Given the description of an element on the screen output the (x, y) to click on. 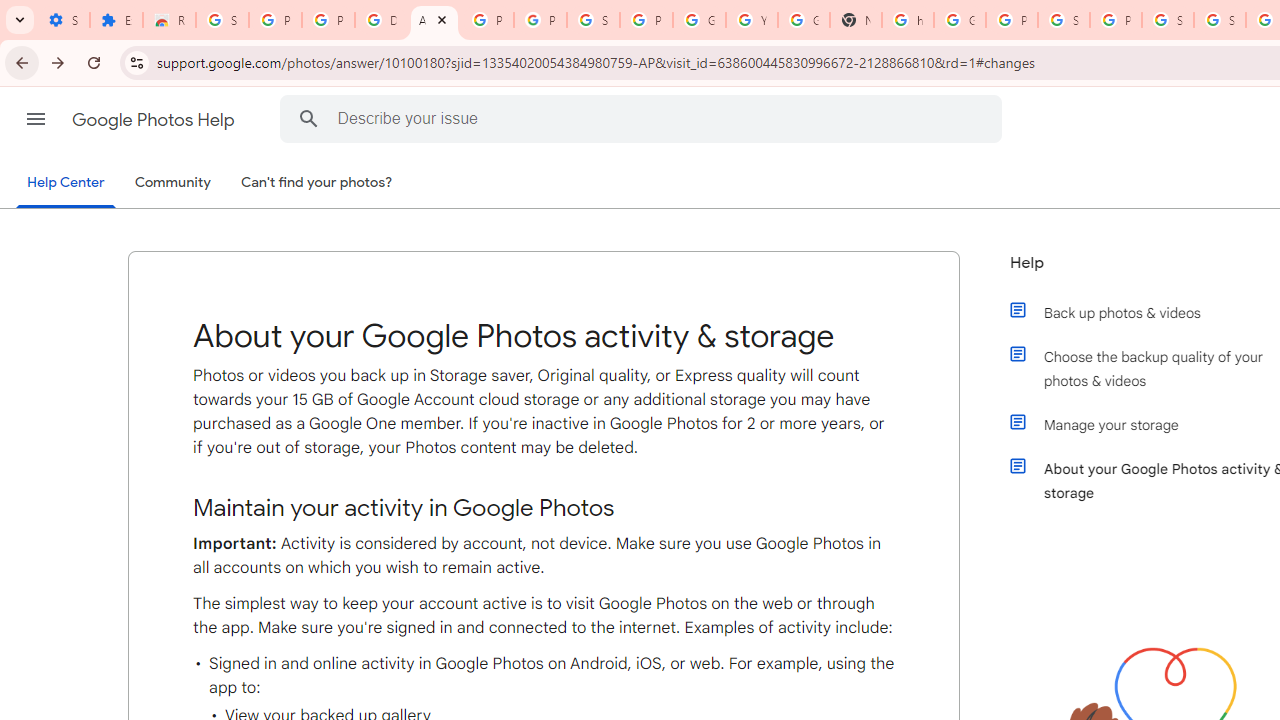
Delete photos & videos - Computer - Google Photos Help (381, 20)
Describe your issue (644, 118)
Can't find your photos? (317, 183)
Search Help Center (309, 118)
